Given the description of an element on the screen output the (x, y) to click on. 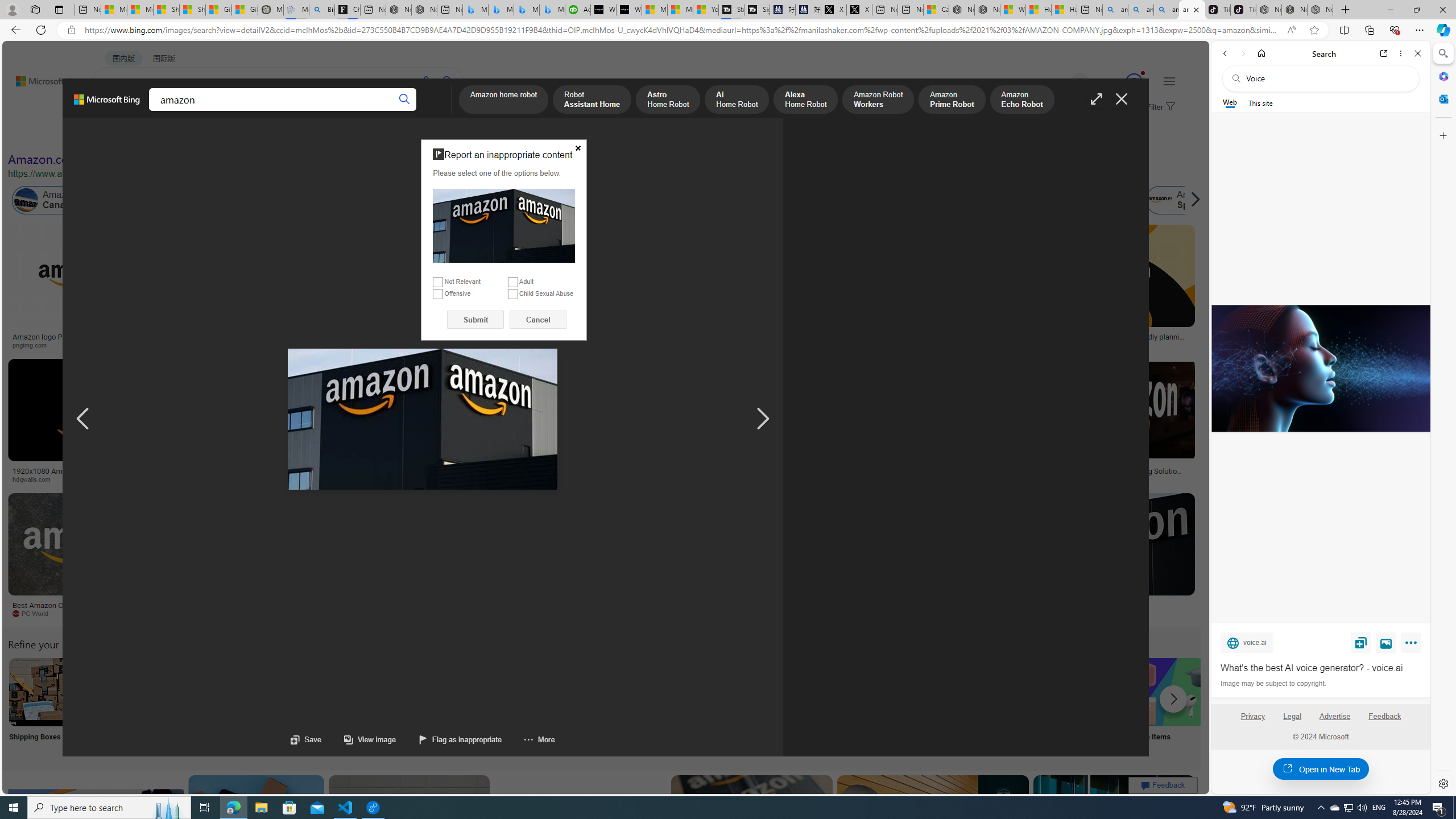
Class: b_pri_nav_svg (191, 112)
License (377, 135)
Amazon India (483, 200)
Amazon down? Current status and problems | Downdetector (937, 340)
Type (212, 135)
Mini TV (794, 706)
Amazon Online Store (644, 691)
Amazon Online Store Online Store (644, 706)
Microsoft Rewards 135 (1120, 81)
